Given the description of an element on the screen output the (x, y) to click on. 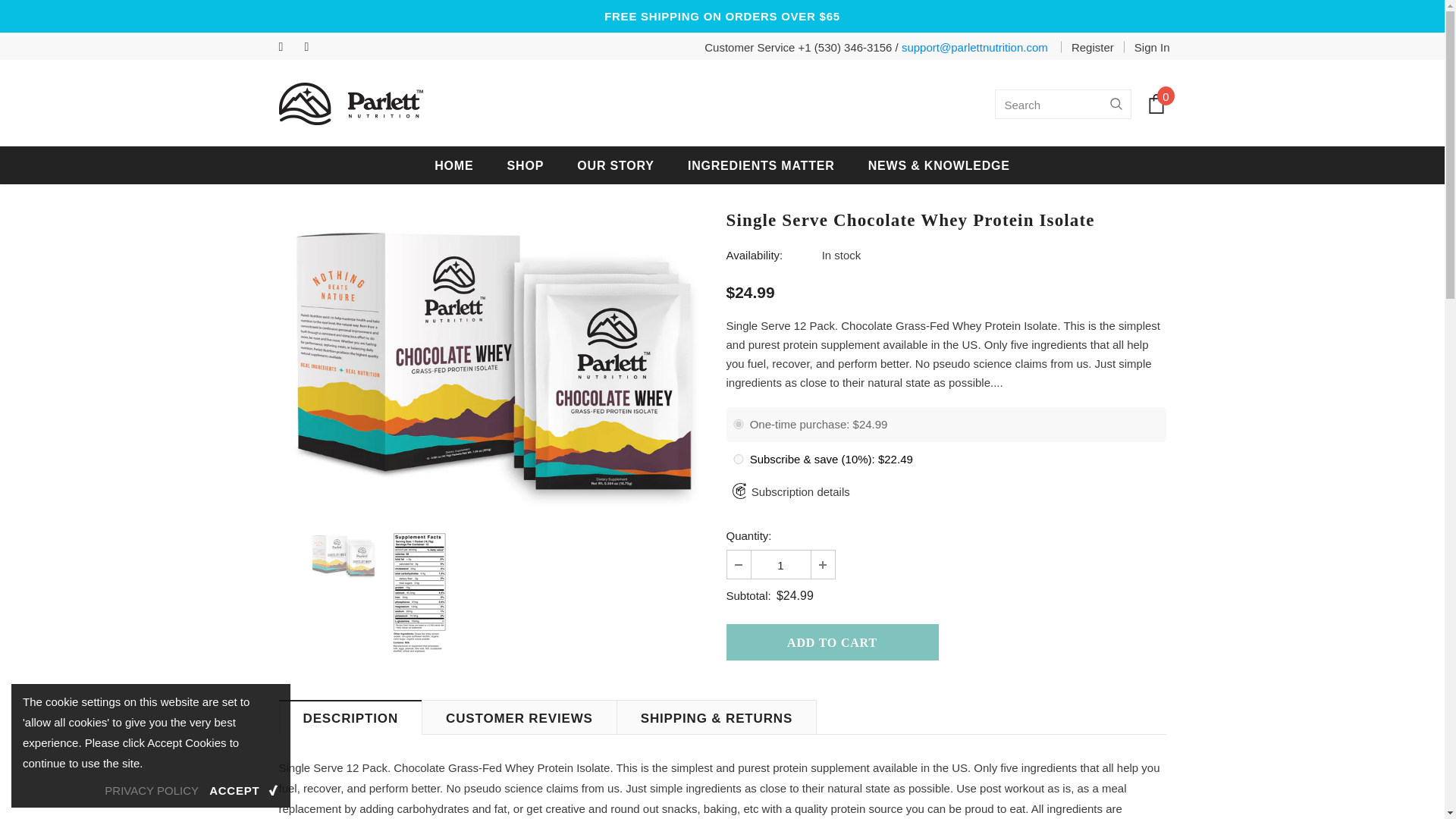
HOME (453, 165)
OUR STORY (614, 165)
INGREDIENTS MATTER (760, 165)
0 (1156, 103)
Sign In (1147, 47)
Logo (351, 103)
Add to Cart (832, 641)
autodeliver (738, 459)
Facebook (288, 46)
onetime (738, 424)
Instagram (313, 46)
Register (1092, 47)
1 (780, 564)
SHOP (525, 165)
